Given the description of an element on the screen output the (x, y) to click on. 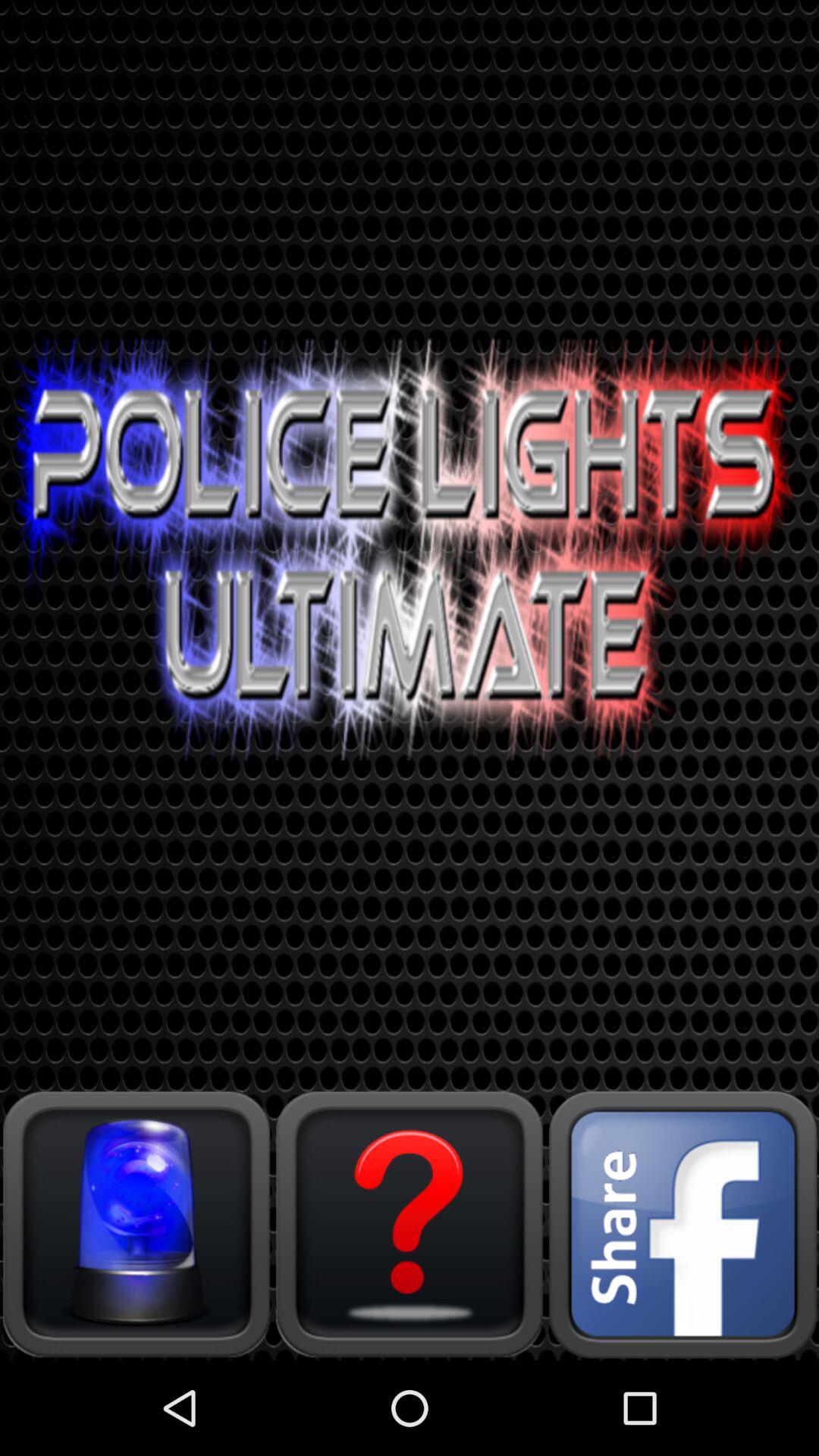
share to facebook (682, 1223)
